Given the description of an element on the screen output the (x, y) to click on. 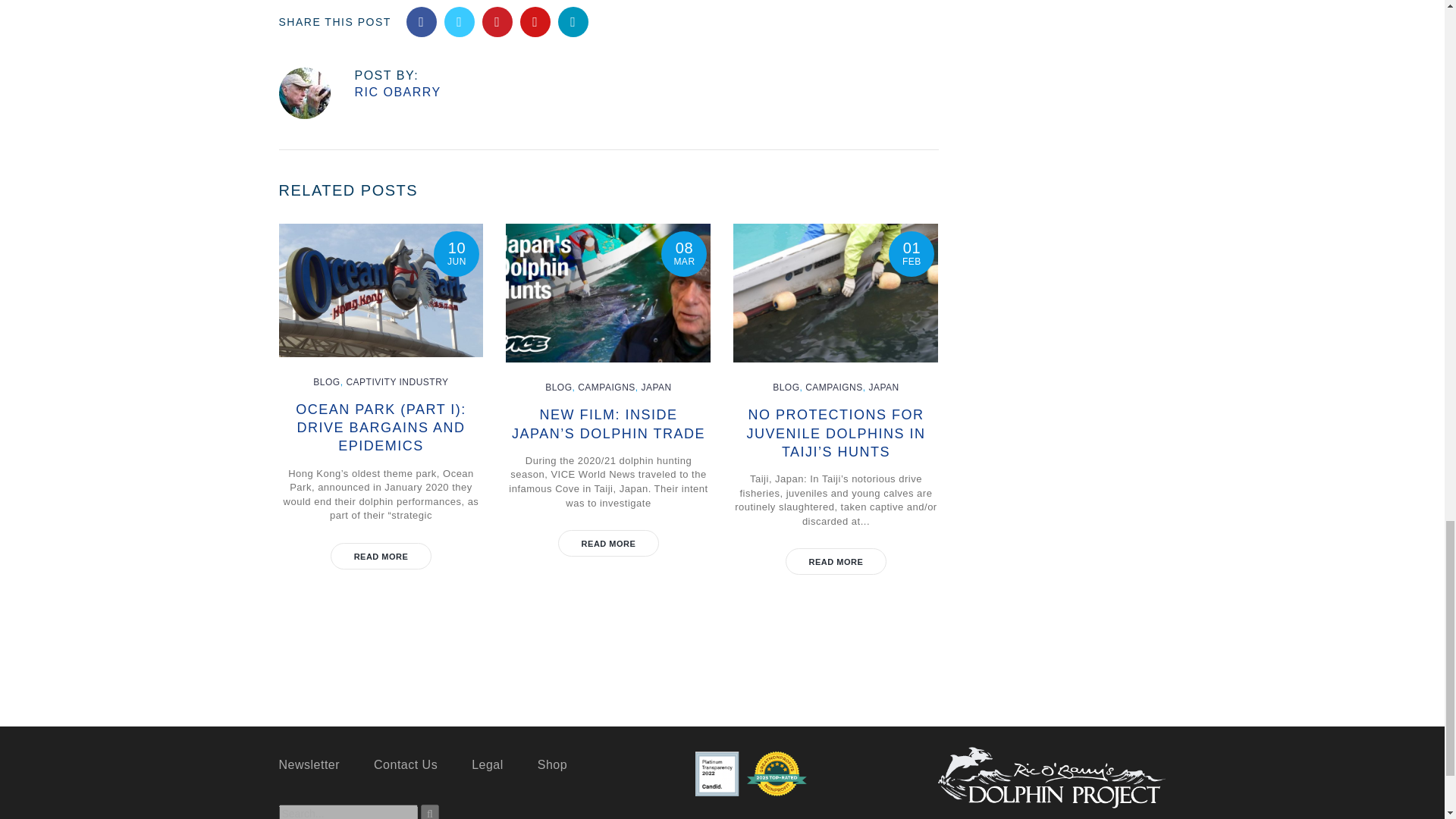
Twitter (459, 21)
Facebook (421, 21)
Search... (348, 811)
Pinterest (496, 21)
LinkedIn (572, 21)
